Given the description of an element on the screen output the (x, y) to click on. 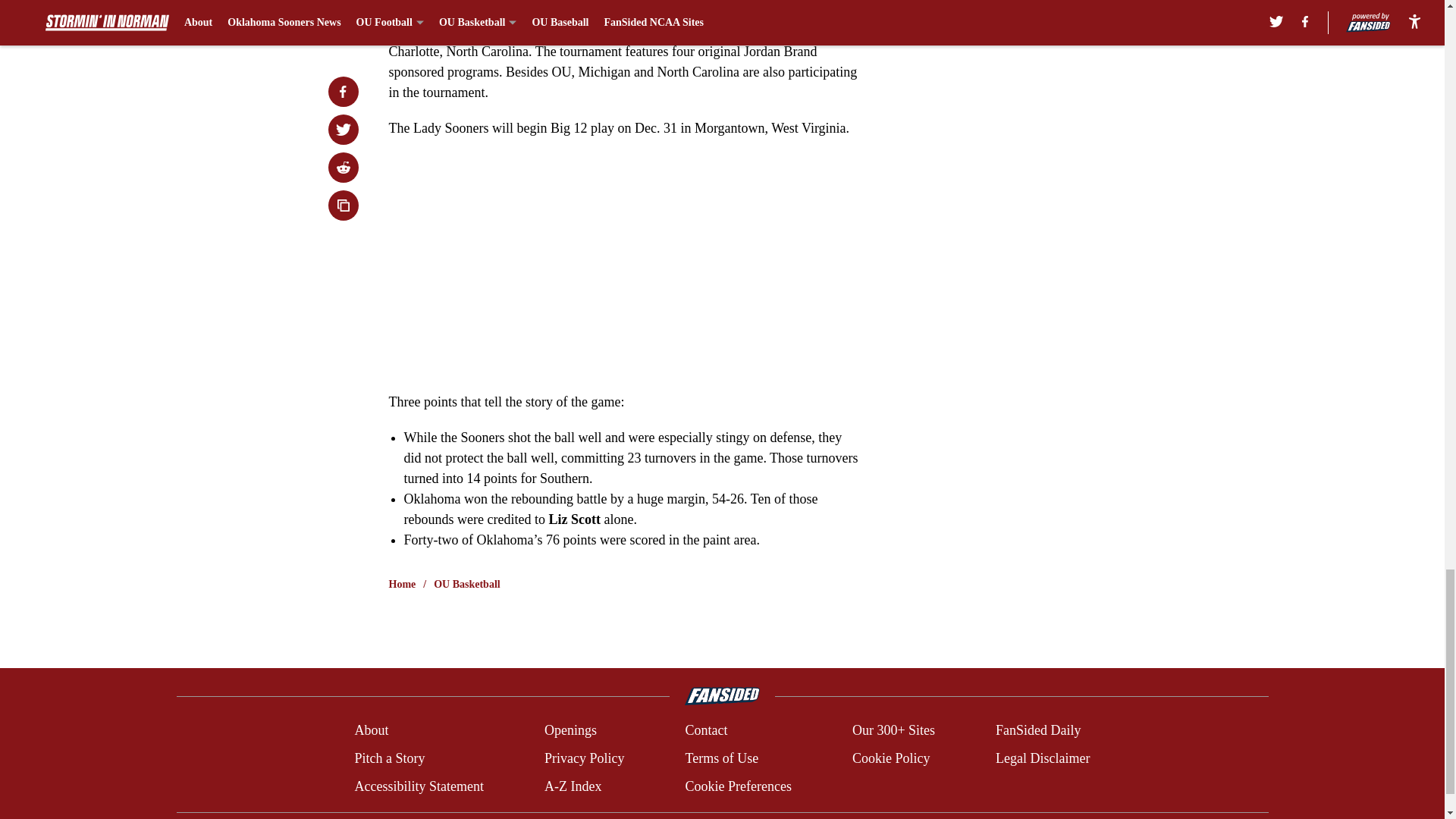
Contact (705, 730)
OU Basketball (466, 584)
Home (401, 584)
Accessibility Statement (418, 786)
Cookie Policy (890, 758)
Openings (570, 730)
Legal Disclaimer (1042, 758)
Pitch a Story (389, 758)
Terms of Use (721, 758)
About (370, 730)
